Given the description of an element on the screen output the (x, y) to click on. 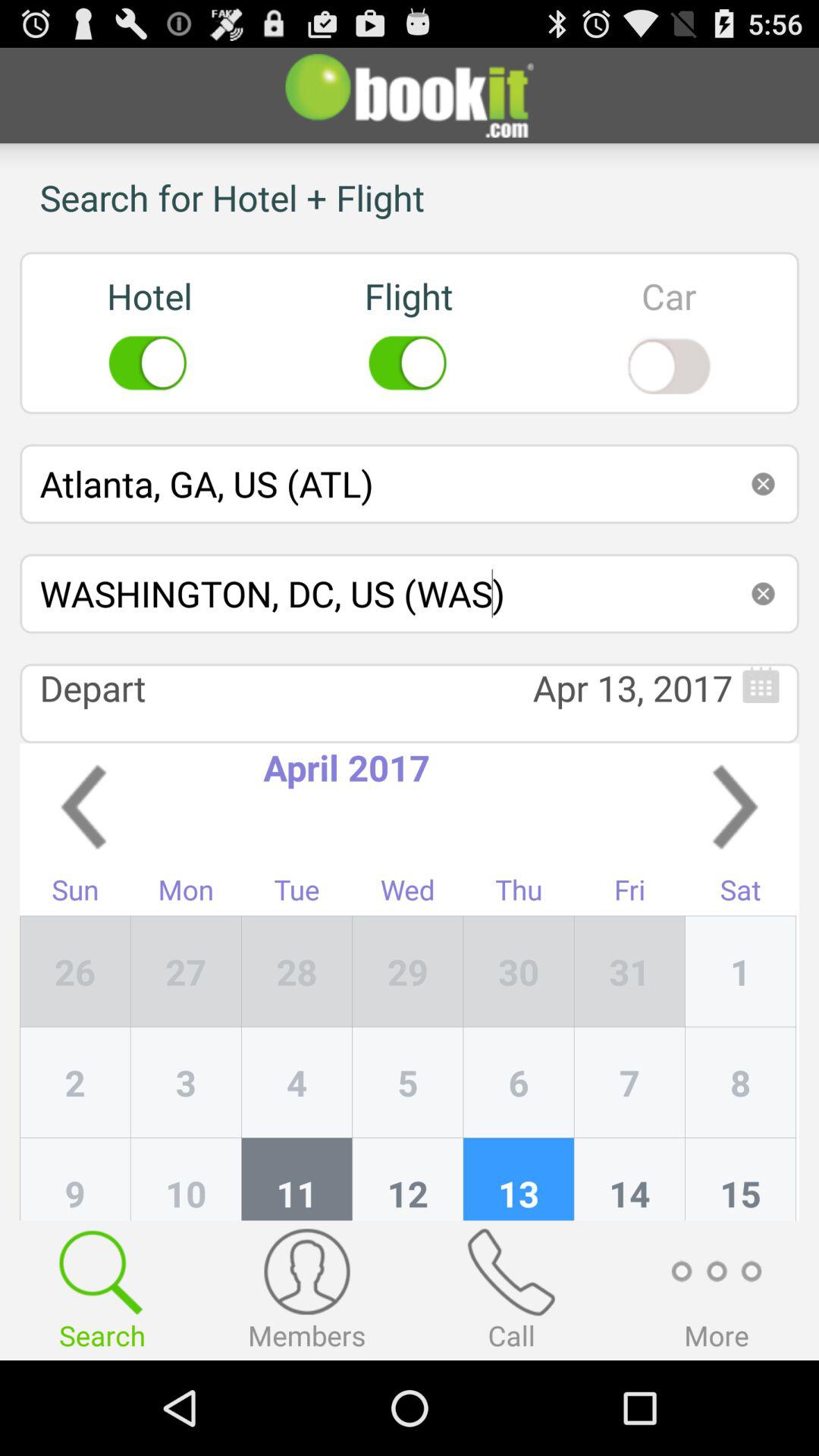
open app above fri item (735, 806)
